Given the description of an element on the screen output the (x, y) to click on. 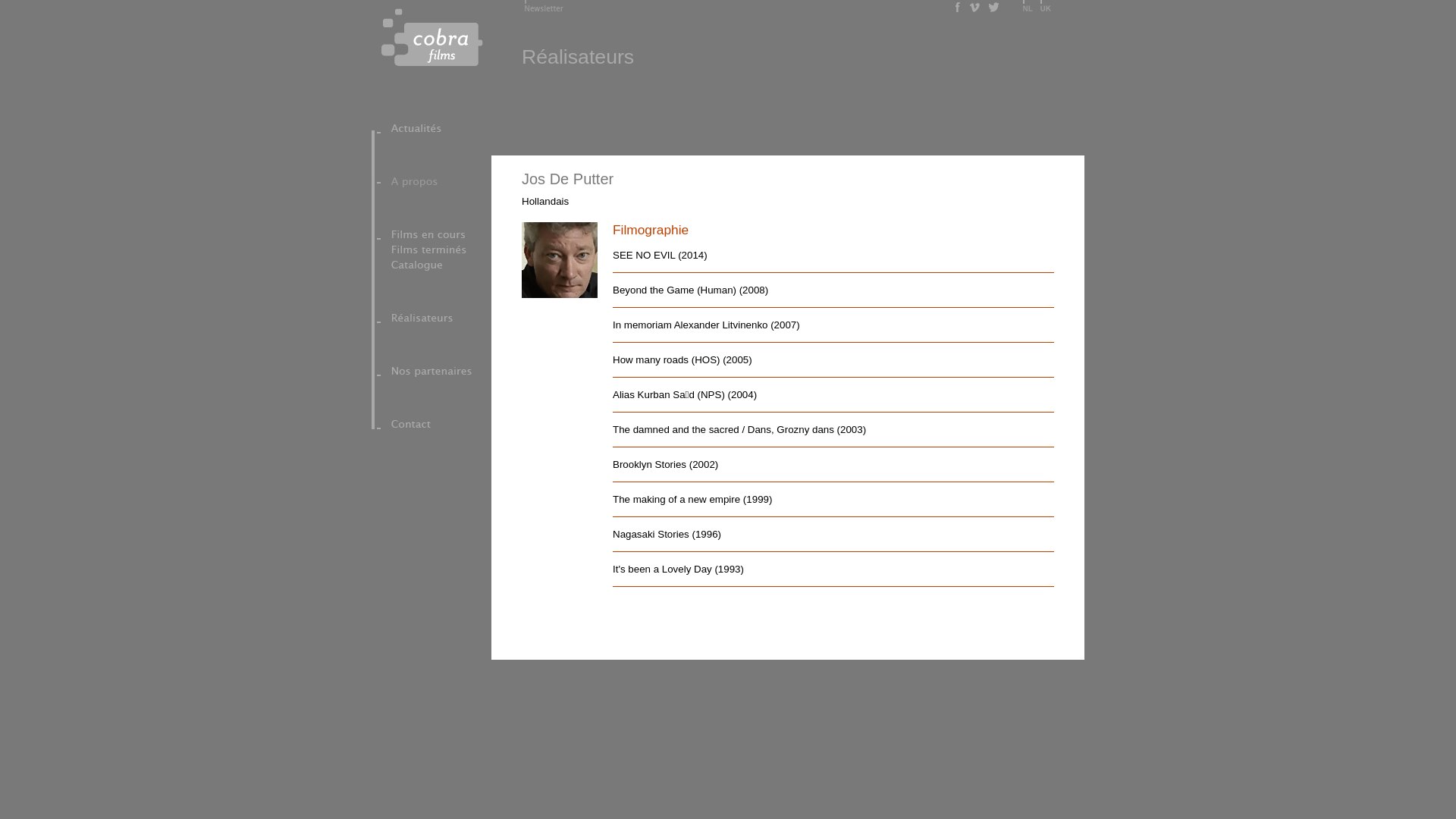
Filmographie Element type: text (833, 230)
Beyond the Game (Human) (2008) Element type: text (833, 290)
The making of a new empire (1999) Element type: text (833, 499)
In memoriam Alexander Litvinenko (2007) Element type: text (833, 324)
The damned and the sacred / Dans, Grozny dans (2003) Element type: text (833, 429)
How many roads (HOS) (2005) Element type: text (833, 359)
Brooklyn Stories (2002) Element type: text (833, 464)
SEE NO EVIL (2014) Element type: text (833, 255)
Nagasaki Stories (1996) Element type: text (833, 534)
It's been a Lovely Day (1993) Element type: text (833, 569)
